Given the description of an element on the screen output the (x, y) to click on. 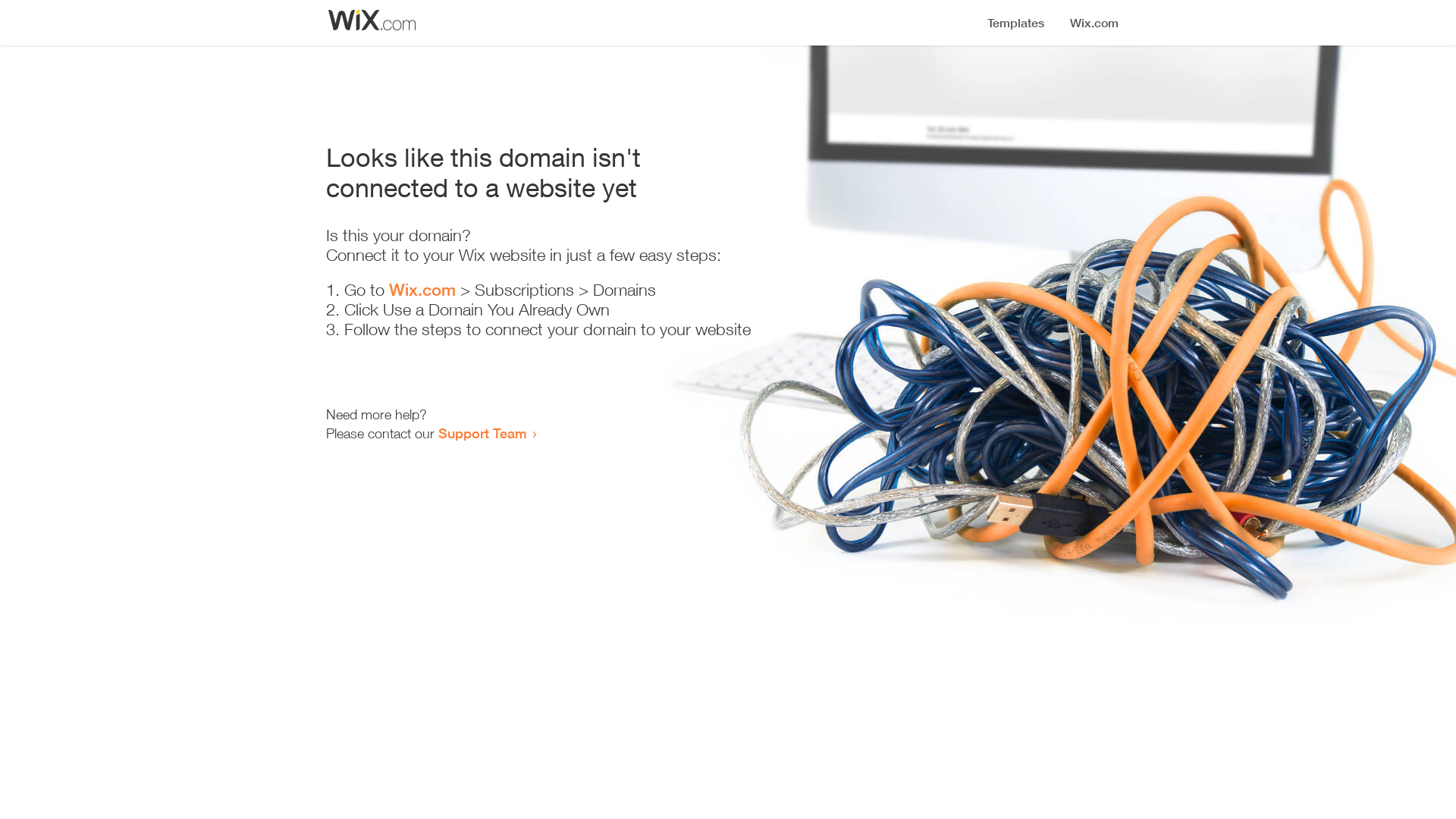
Support Team Element type: text (482, 432)
Wix.com Element type: text (422, 289)
